Given the description of an element on the screen output the (x, y) to click on. 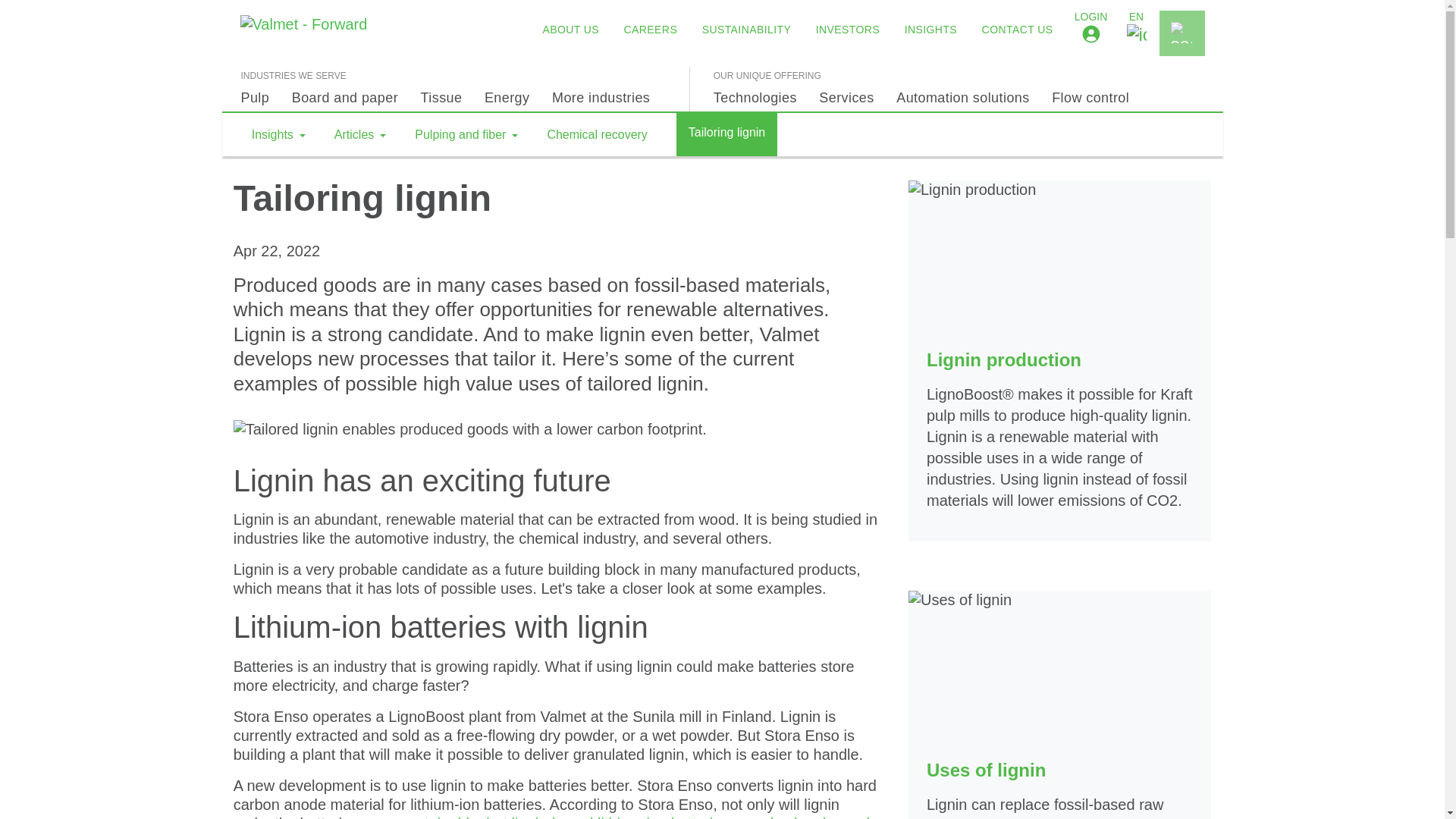
LOGIN (1090, 33)
Valmet - Forward (307, 33)
EN (1135, 33)
ABOUT US (570, 29)
